Given the description of an element on the screen output the (x, y) to click on. 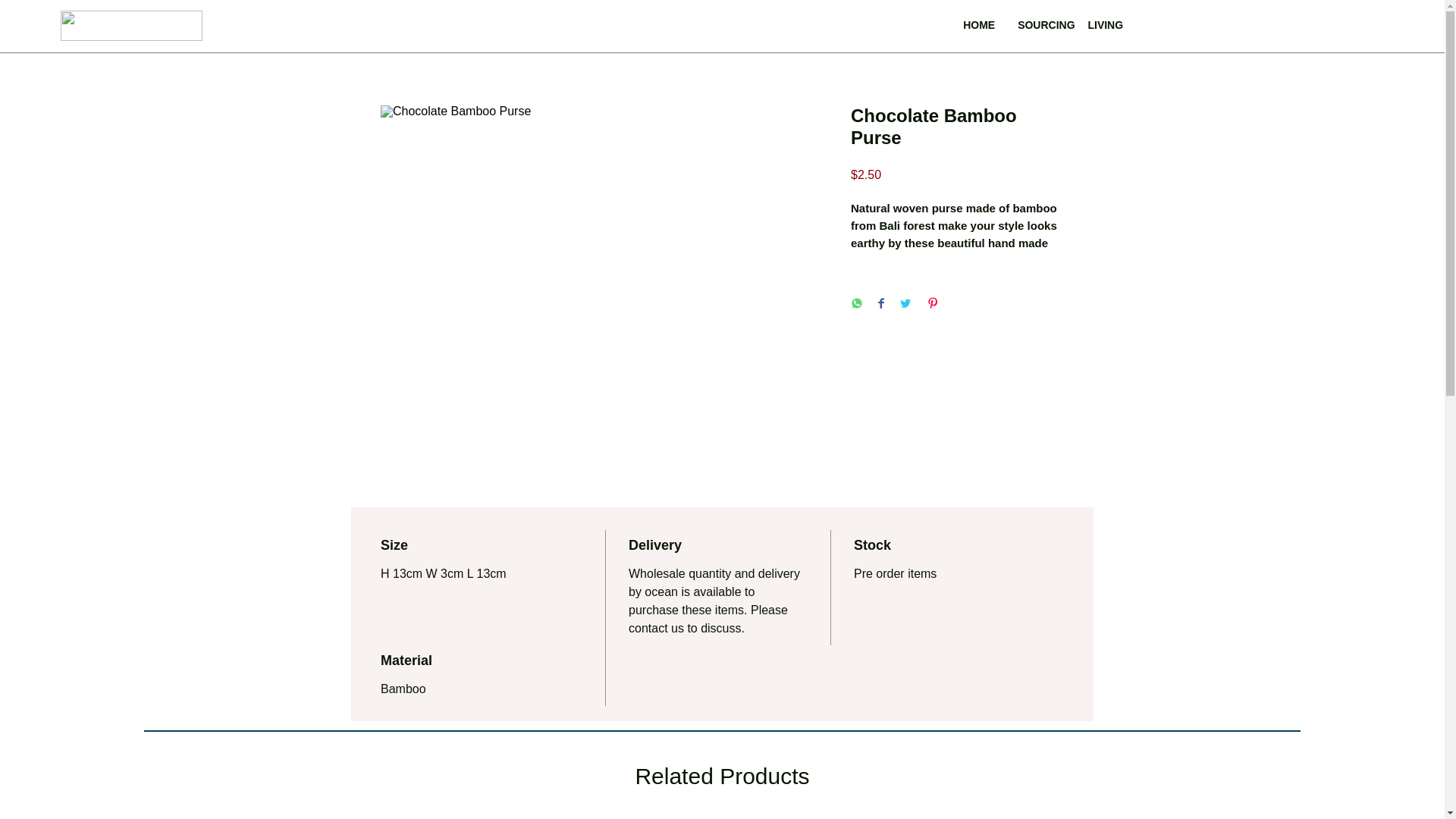
HOME (979, 24)
LIVING (1104, 24)
SOURCING (1046, 24)
